Given the description of an element on the screen output the (x, y) to click on. 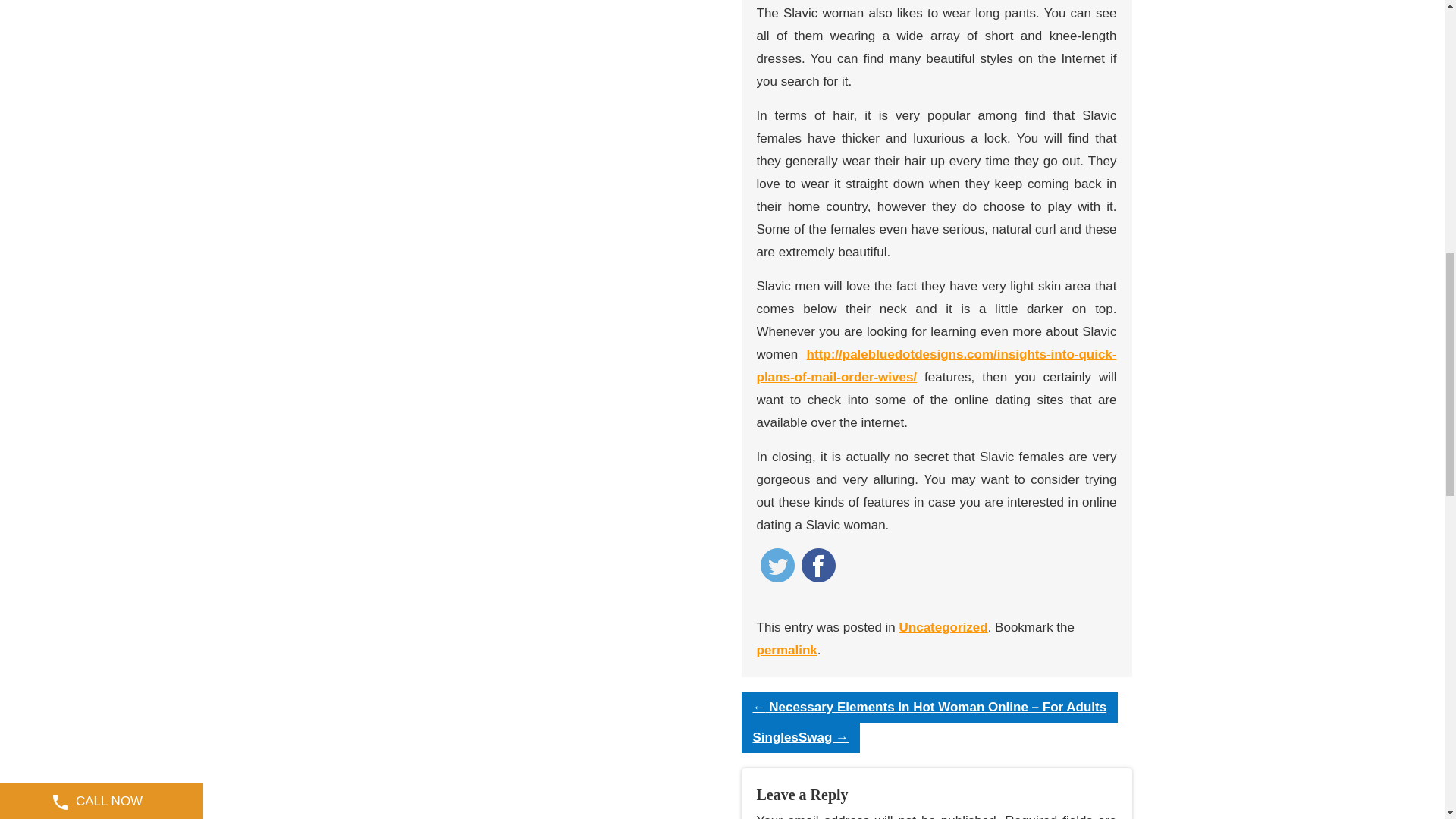
permalink (786, 649)
Uncategorized (943, 626)
